Given the description of an element on the screen output the (x, y) to click on. 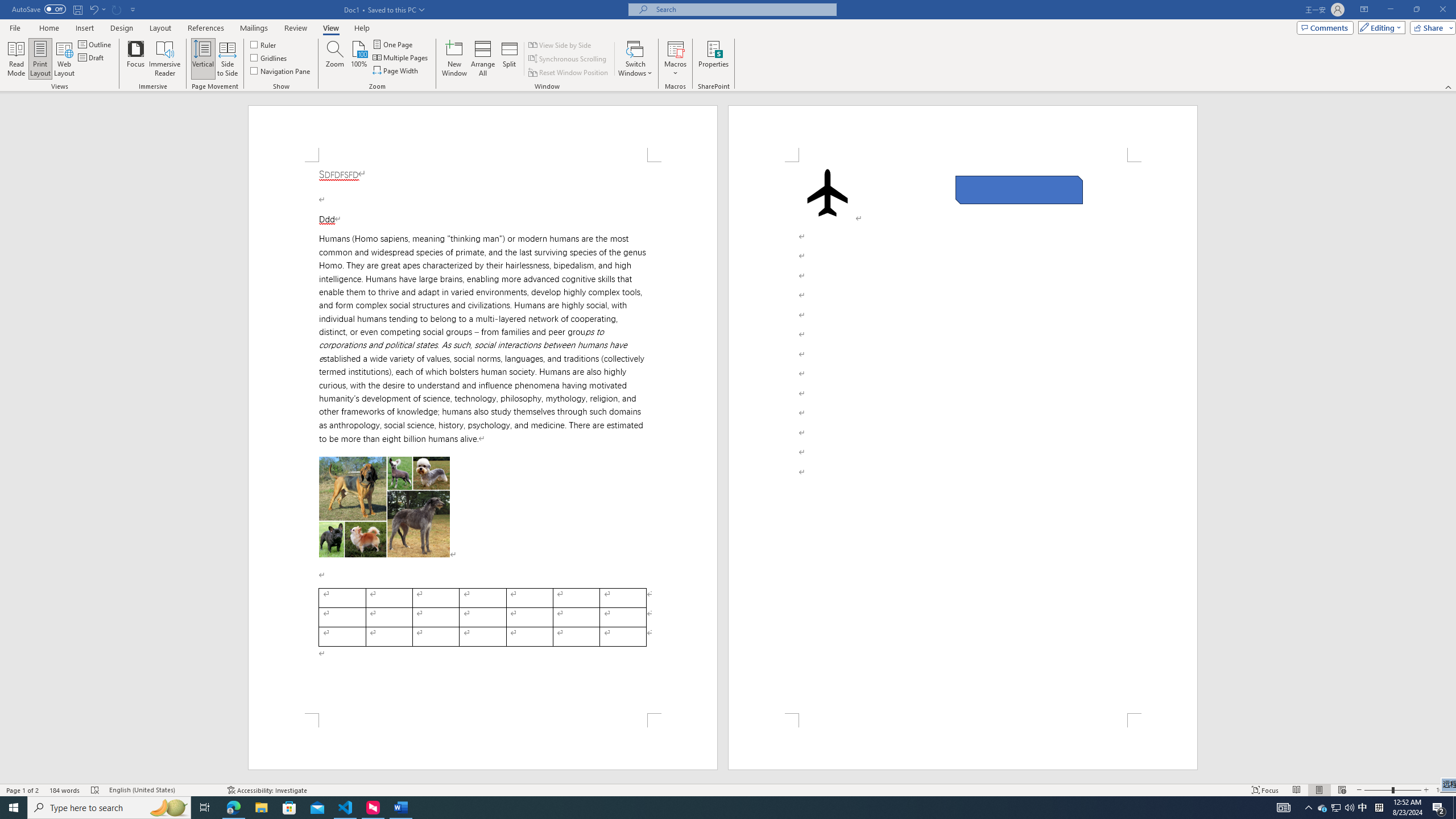
Q2790: 100% (1349, 807)
Class: MsoCommandBar (728, 45)
Help (361, 28)
Notification Chevron (1308, 807)
Microsoft Store (289, 807)
Ribbon Display Options (1364, 9)
Mailings (253, 28)
Design (122, 28)
Ruler (263, 44)
AutomationID: 4105 (1283, 807)
